Given the description of an element on the screen output the (x, y) to click on. 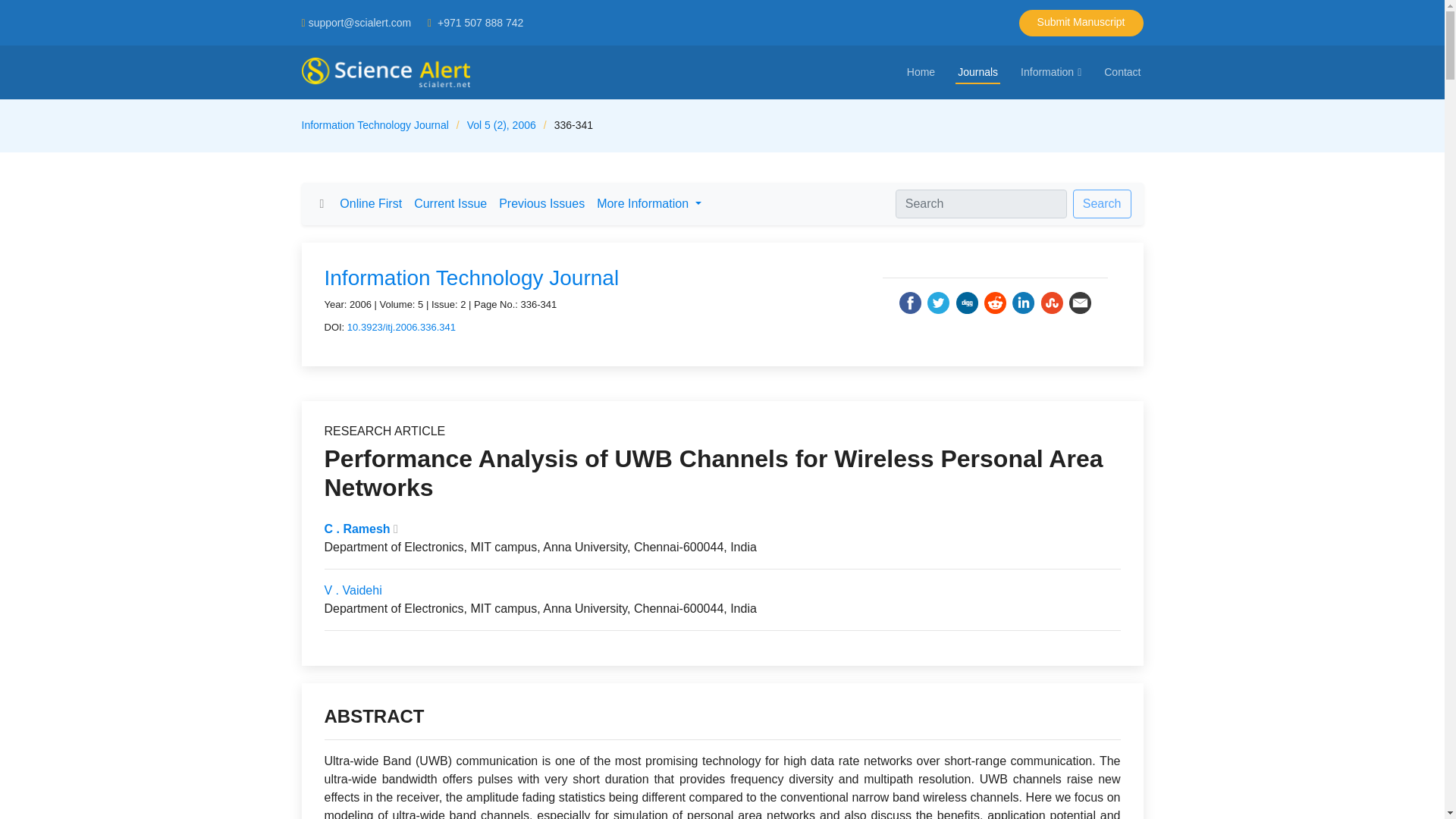
Submit Manuscript (1080, 22)
Search (1102, 203)
Journals (977, 72)
Contact (1122, 72)
Previous Issues (542, 204)
Click to find out more papers by V . Vaidehi (352, 590)
Information Technology Journal (374, 124)
V . Vaidehi (352, 590)
Information Technology Journal (472, 277)
Submit Manuscript (1080, 22)
